Given the description of an element on the screen output the (x, y) to click on. 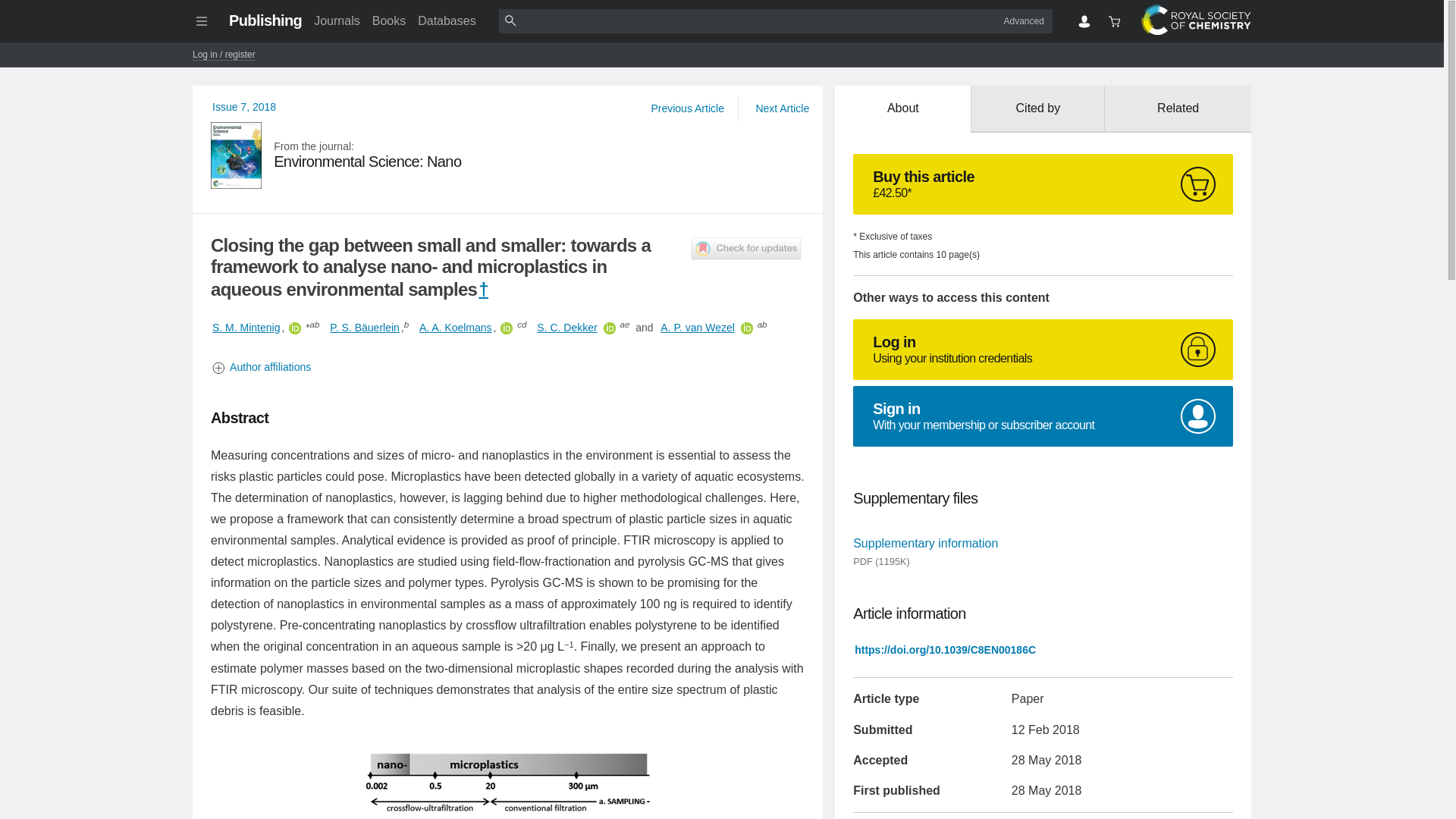
A. A. Koelmans (455, 327)
Publishing home page (264, 20)
Previous Article (687, 107)
A. P. van Wezel (697, 327)
Related (1177, 108)
Next Article (781, 107)
Publishing (264, 20)
Issue 7, 2018 (244, 106)
Issue 7, 2018 (244, 106)
